Given the description of an element on the screen output the (x, y) to click on. 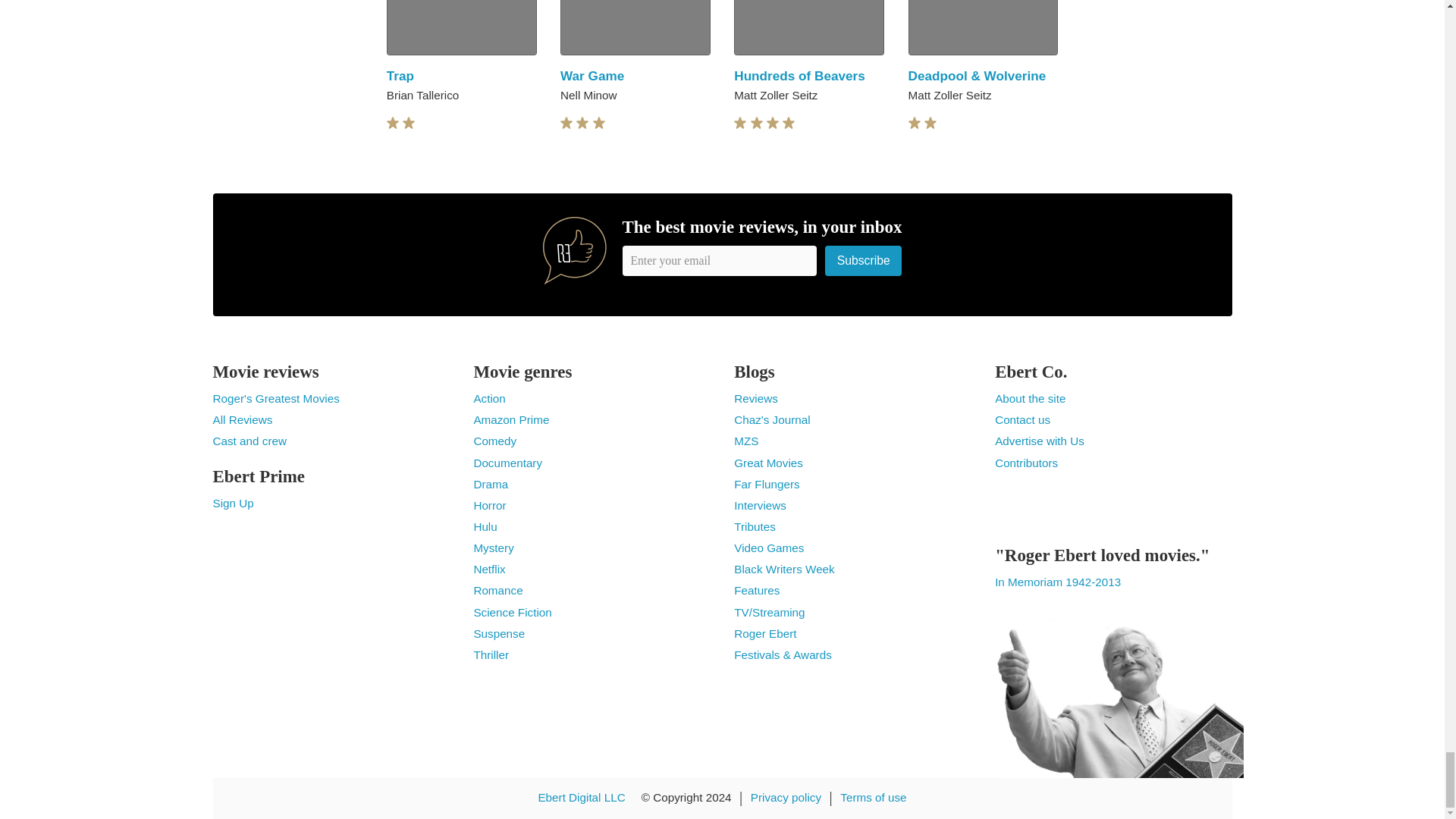
Subscribe (863, 260)
